Given the description of an element on the screen output the (x, y) to click on. 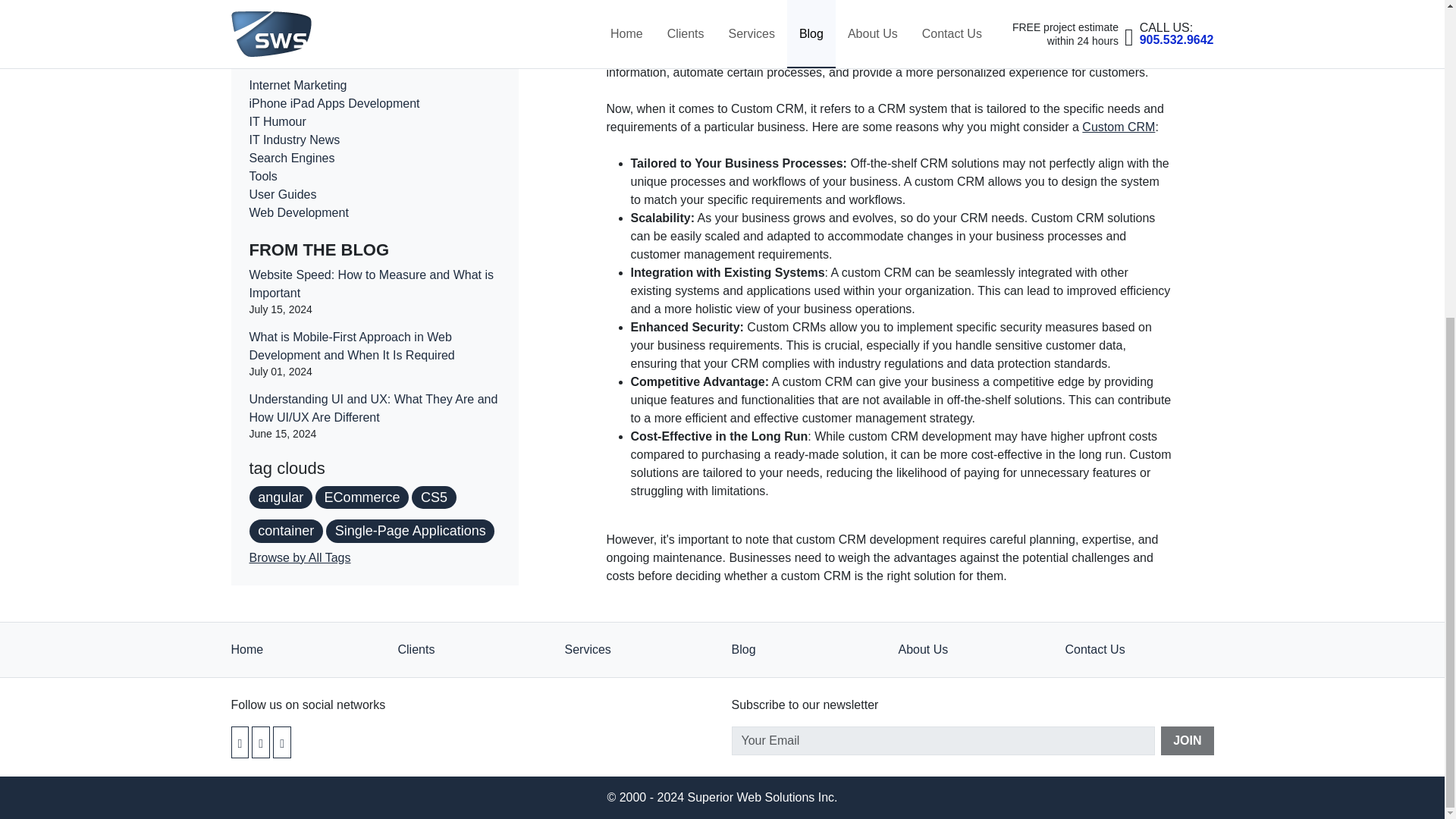
Custom CRM (1117, 126)
Browse by All Tags (299, 333)
container (284, 307)
Website Speed: How to Measure and What is Important (370, 60)
ECommerce (362, 273)
angular (279, 273)
Single-Page Applications (410, 307)
CS5 (433, 273)
